Given the description of an element on the screen output the (x, y) to click on. 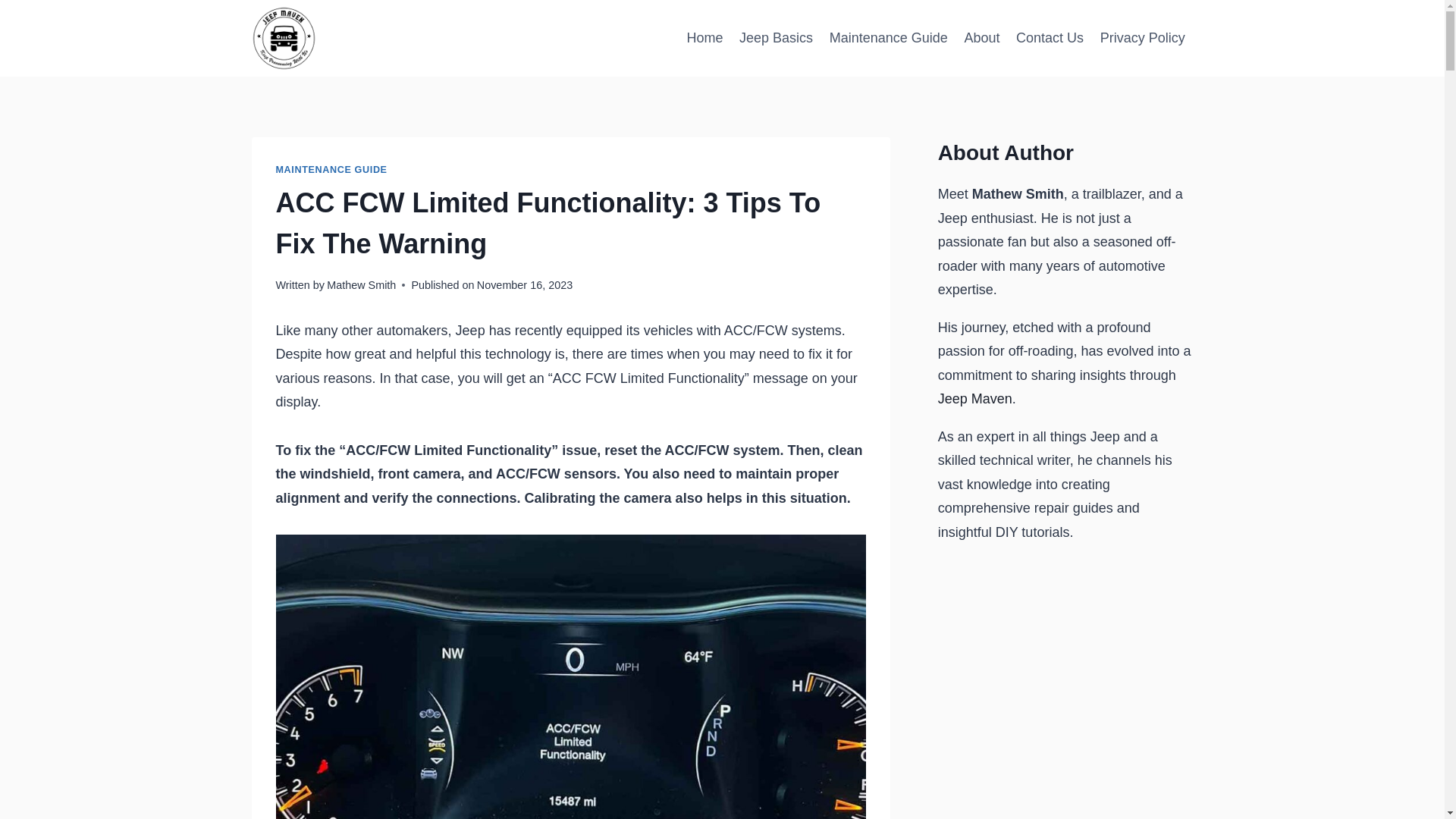
Mathew Smith (361, 285)
Privacy Policy (1142, 38)
Jeep Basics (775, 38)
MAINTENANCE GUIDE (331, 169)
Home (705, 38)
Contact Us (1049, 38)
Maintenance Guide (888, 38)
About (982, 38)
